Given the description of an element on the screen output the (x, y) to click on. 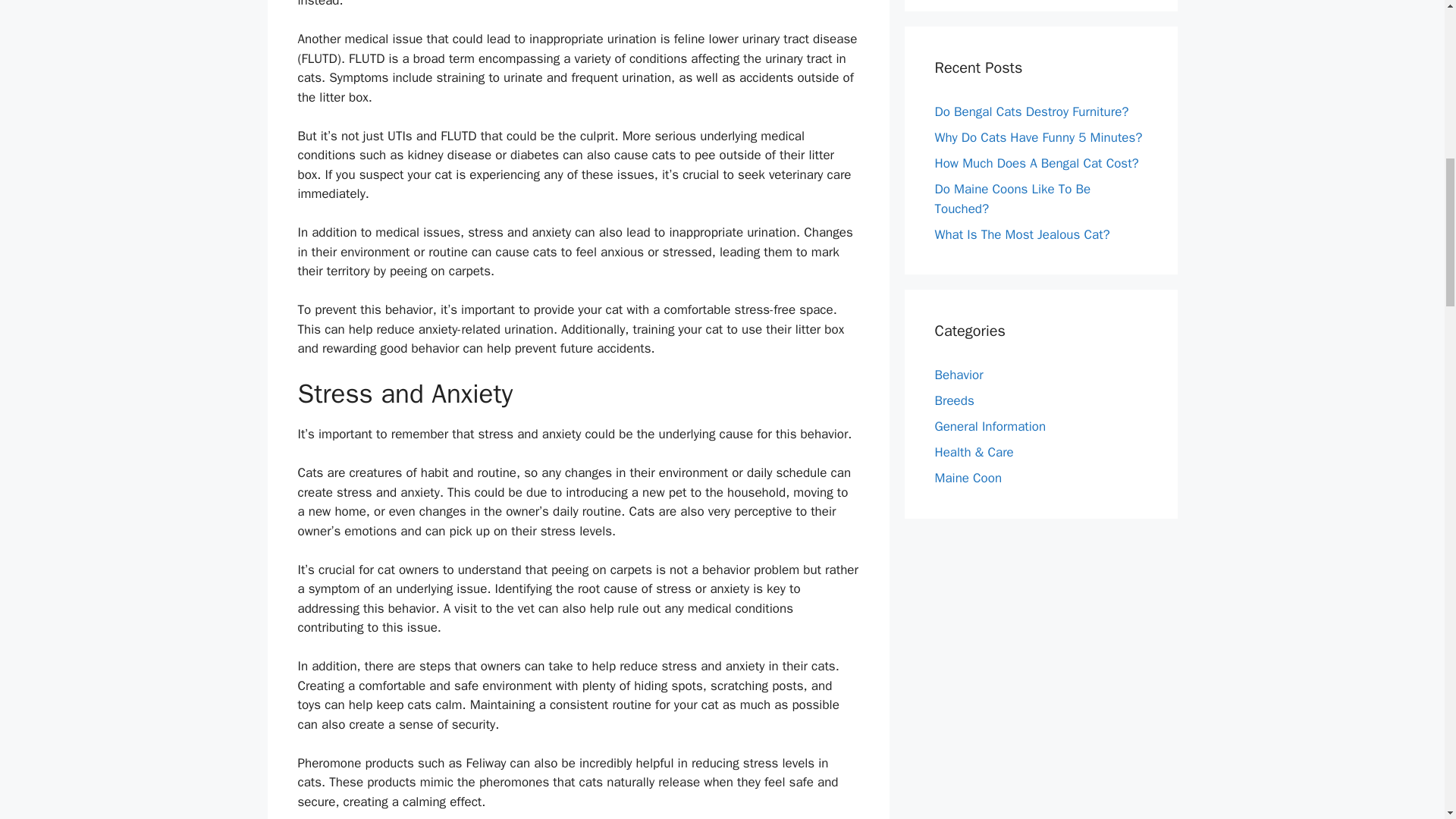
How Much Does A Bengal Cat Cost? (1036, 163)
What Is The Most Jealous Cat? (1021, 233)
Behavior (958, 374)
General Information (989, 426)
Breeds (954, 400)
Why Do Cats Have Funny 5 Minutes? (1037, 137)
Do Maine Coons Like To Be Touched? (1012, 198)
Do Bengal Cats Destroy Furniture? (1031, 111)
Scroll back to top (1406, 720)
